Given the description of an element on the screen output the (x, y) to click on. 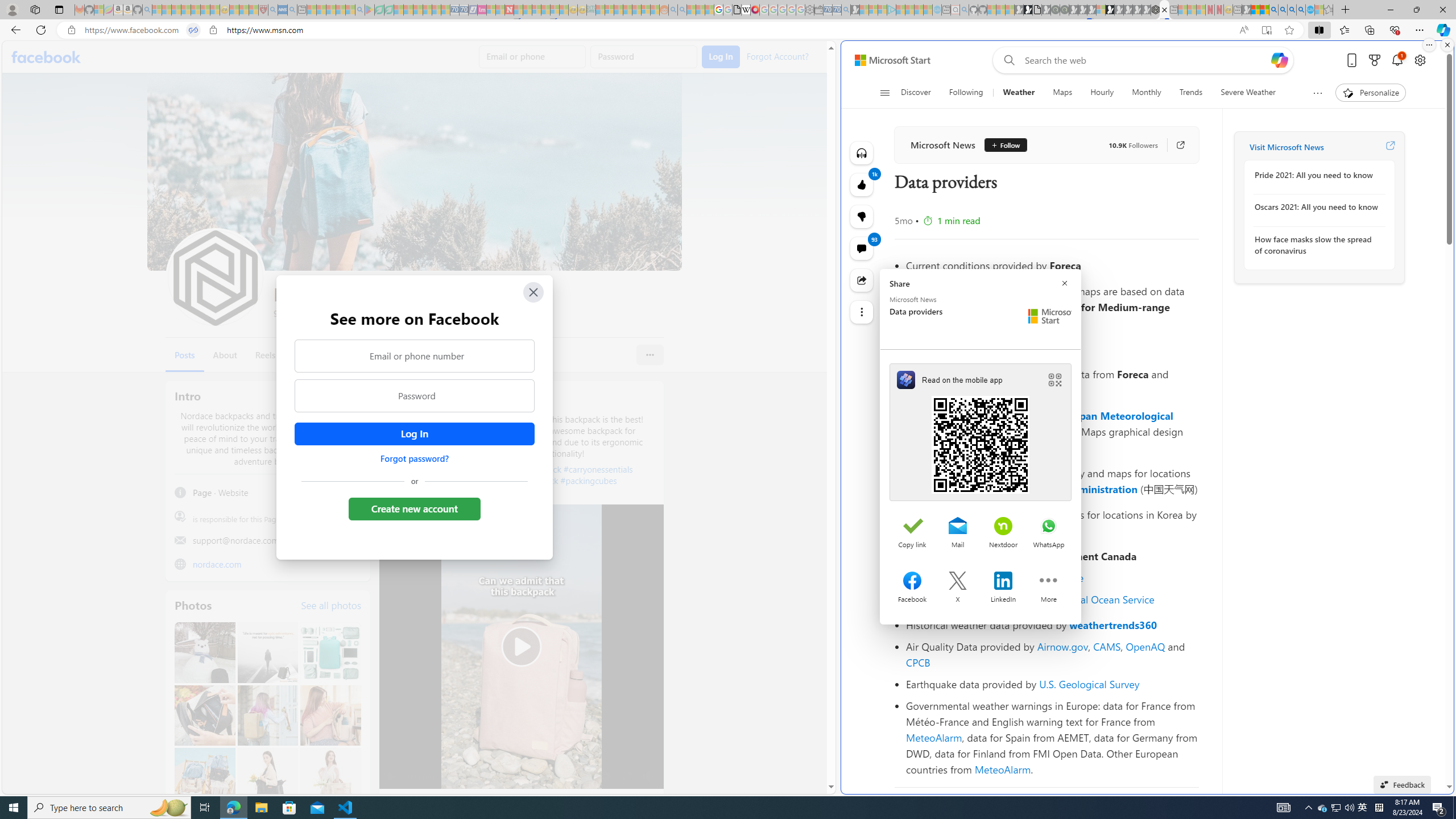
Accessible login button (414, 433)
Forgot Account? (776, 55)
Expert Portfolios - Sleeping (627, 9)
Trends (1190, 92)
1k (861, 216)
